Given the description of an element on the screen output the (x, y) to click on. 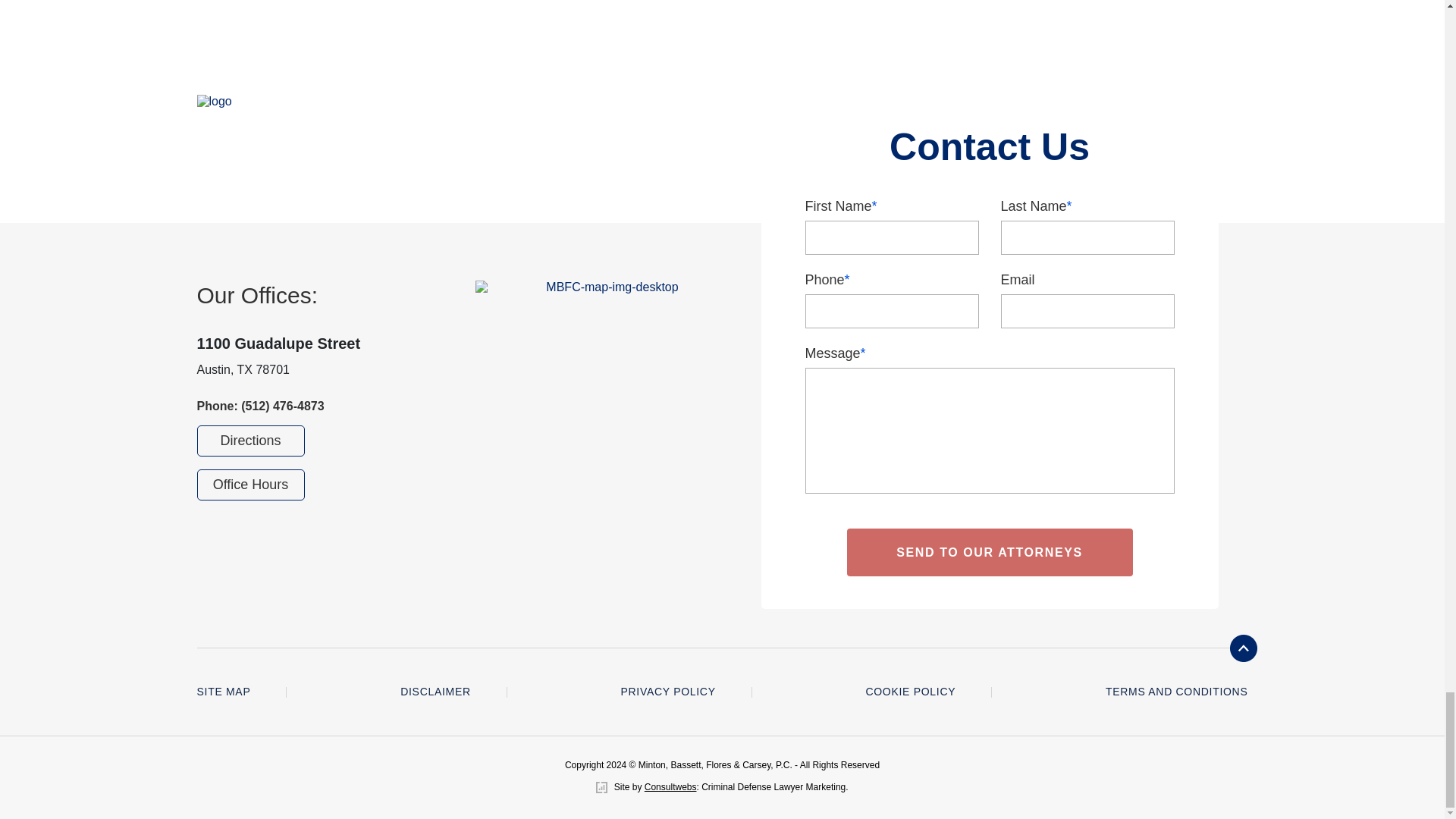
Send to Our Attorneys (988, 552)
